Given the description of an element on the screen output the (x, y) to click on. 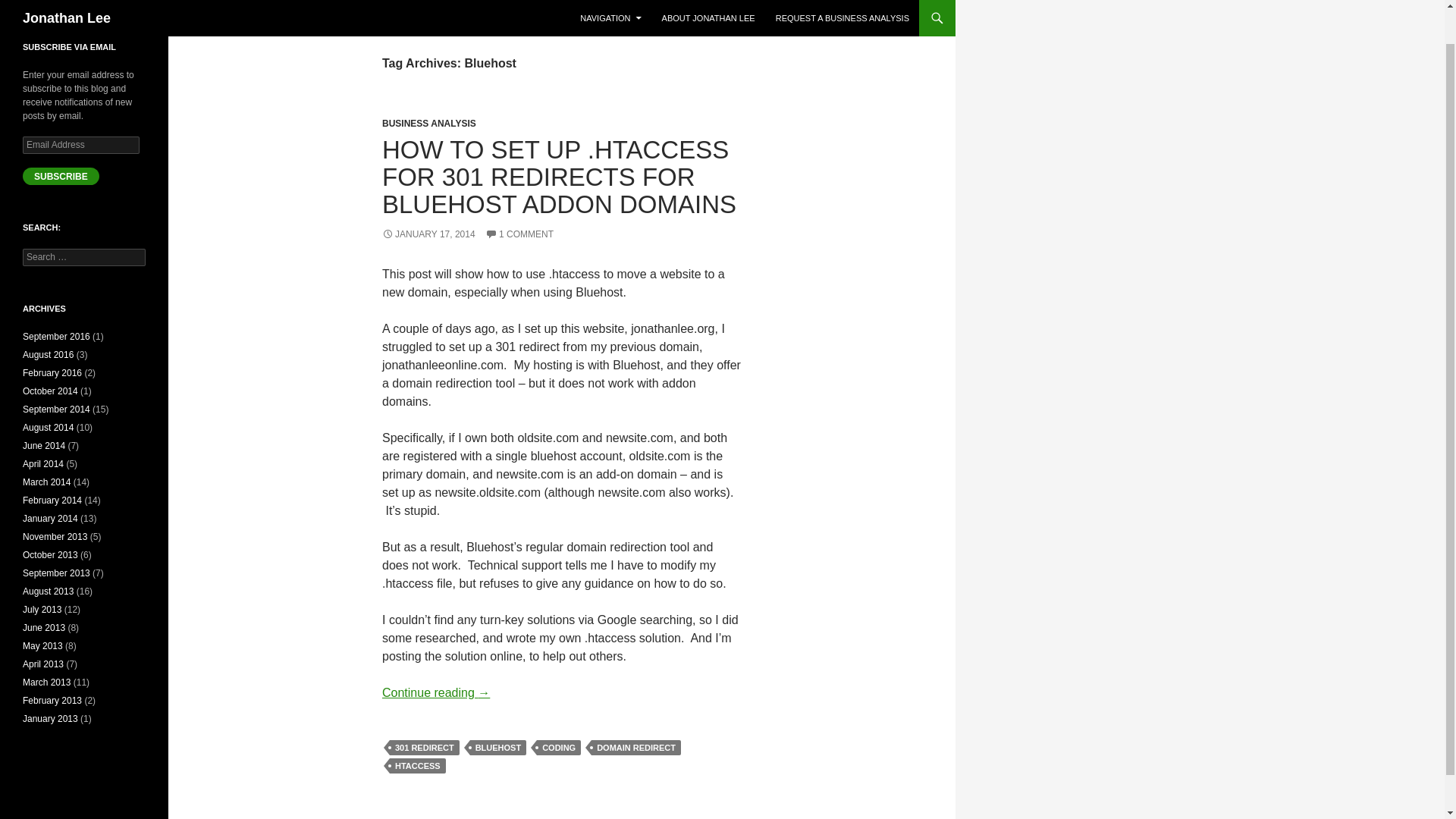
1 COMMENT (518, 234)
February 2014 (52, 500)
JANUARY 17, 2014 (428, 234)
January 2014 (50, 518)
301 REDIRECT (425, 747)
October 2013 (50, 554)
DOMAIN REDIRECT (636, 747)
November 2013 (55, 536)
August 2014 (48, 427)
HTACCESS (417, 765)
February 2016 (52, 372)
BLUEHOST (498, 747)
CODING (558, 747)
September 2016 (56, 336)
August 2016 (48, 354)
